Given the description of an element on the screen output the (x, y) to click on. 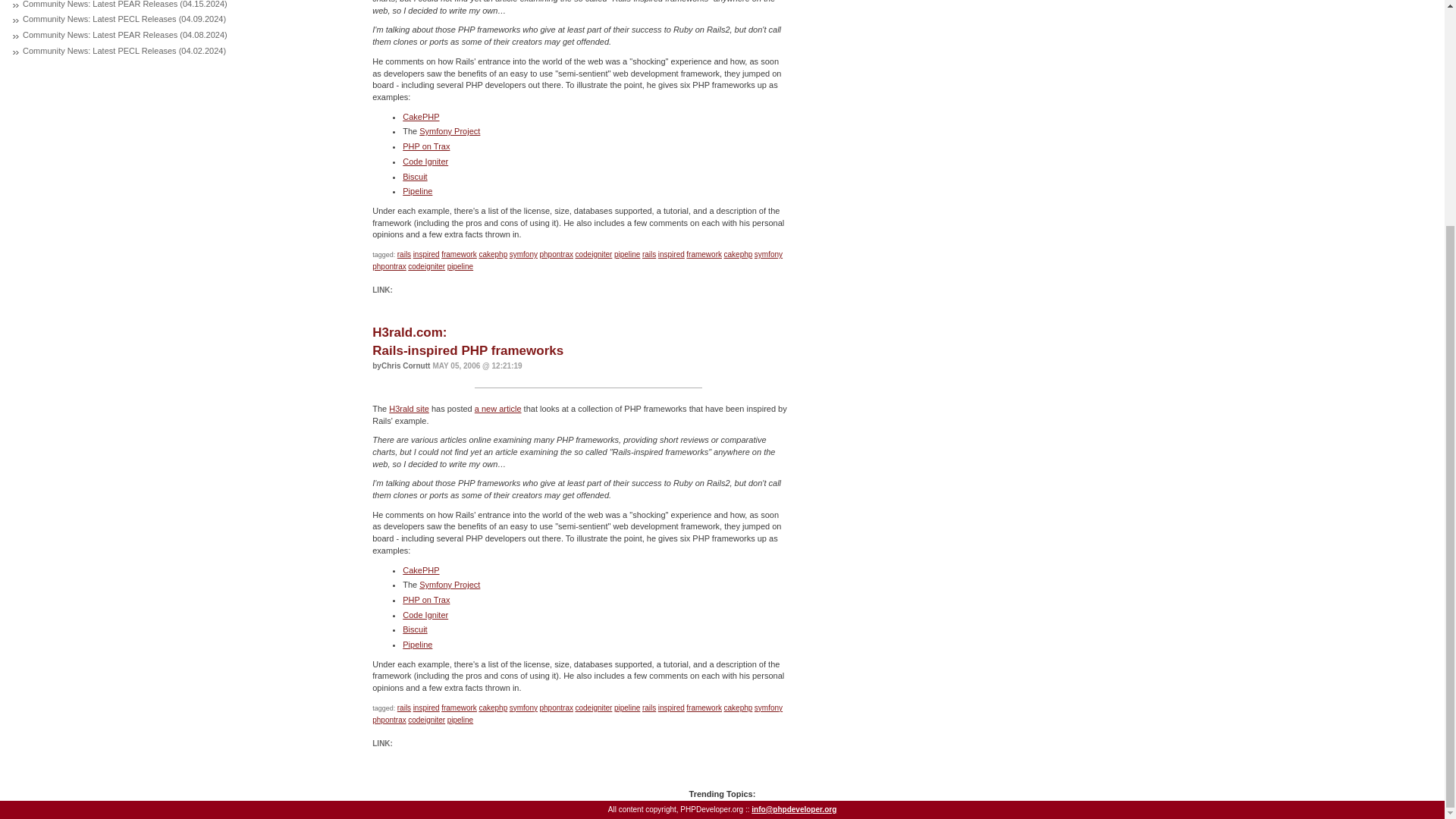
framework (703, 254)
cakephp (737, 254)
pipeline (627, 254)
rails (403, 254)
Symfony Project (449, 130)
symfony (523, 254)
inspired (671, 254)
inspired (426, 254)
rails (649, 254)
Biscuit (414, 175)
symfony (768, 254)
cakephp (492, 254)
PHP on Trax (426, 145)
codeigniter (593, 254)
framework (459, 254)
